Given the description of an element on the screen output the (x, y) to click on. 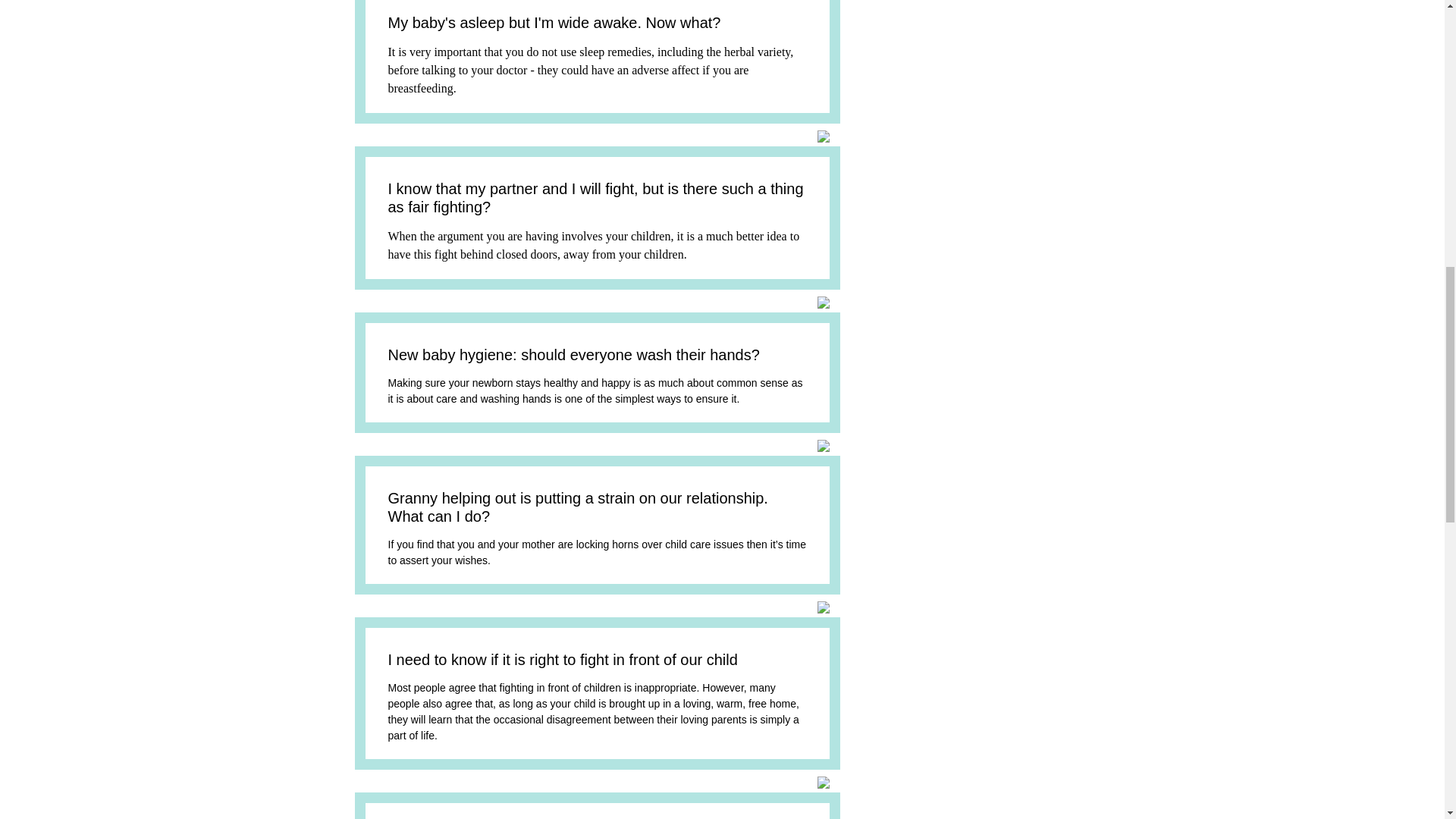
My babys asleep but Im wide awake. Now what? (554, 22)
I need to know if it is right to fight in front of our child (563, 659)
New baby hygiene: should everyone wash their hands? (574, 354)
